Given the description of an element on the screen output the (x, y) to click on. 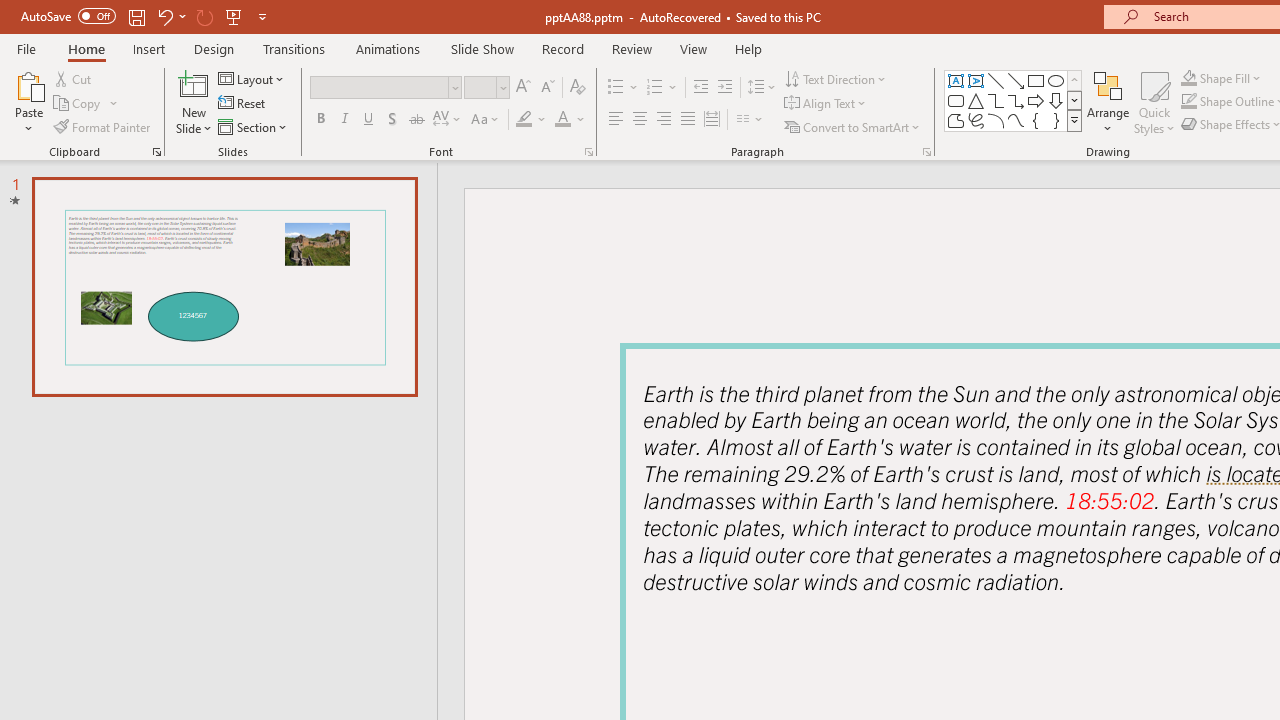
Shape Outline Teal, Accent 1 (1188, 101)
Shape Fill Aqua, Accent 2 (1188, 78)
